Given the description of an element on the screen output the (x, y) to click on. 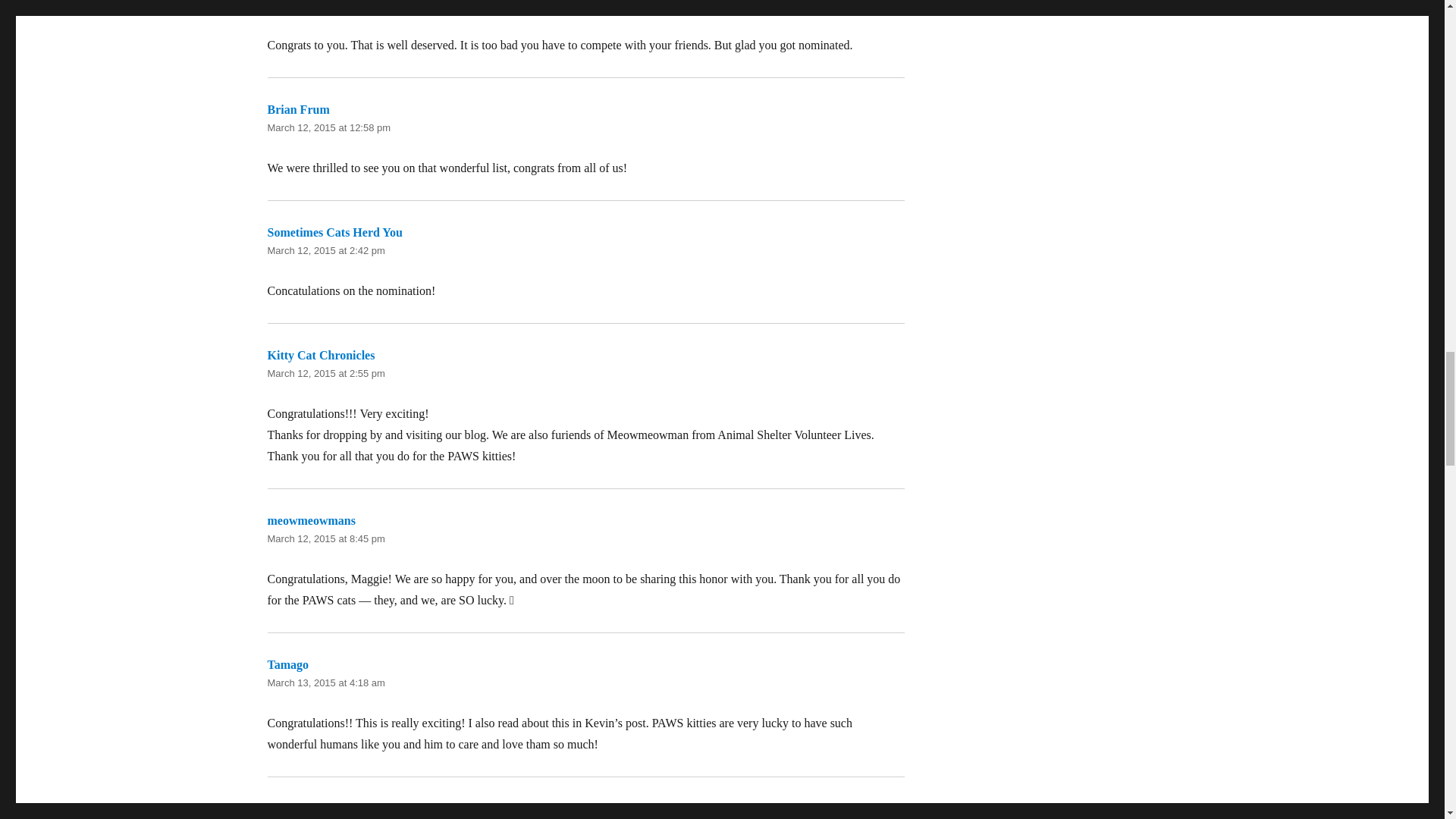
March 12, 2015 at 2:42 pm (325, 250)
March 12, 2015 at 12:58 pm (328, 127)
Kitty Cat Chronicles (320, 354)
Sometimes Cats Herd You (334, 232)
March 13, 2015 at 4:18 am (325, 682)
March 12, 2015 at 2:55 pm (325, 373)
Brian Frum (297, 109)
meowmeowmans (310, 520)
March 12, 2015 at 12:44 pm (328, 5)
March 12, 2015 at 8:45 pm (325, 538)
